Given the description of an element on the screen output the (x, y) to click on. 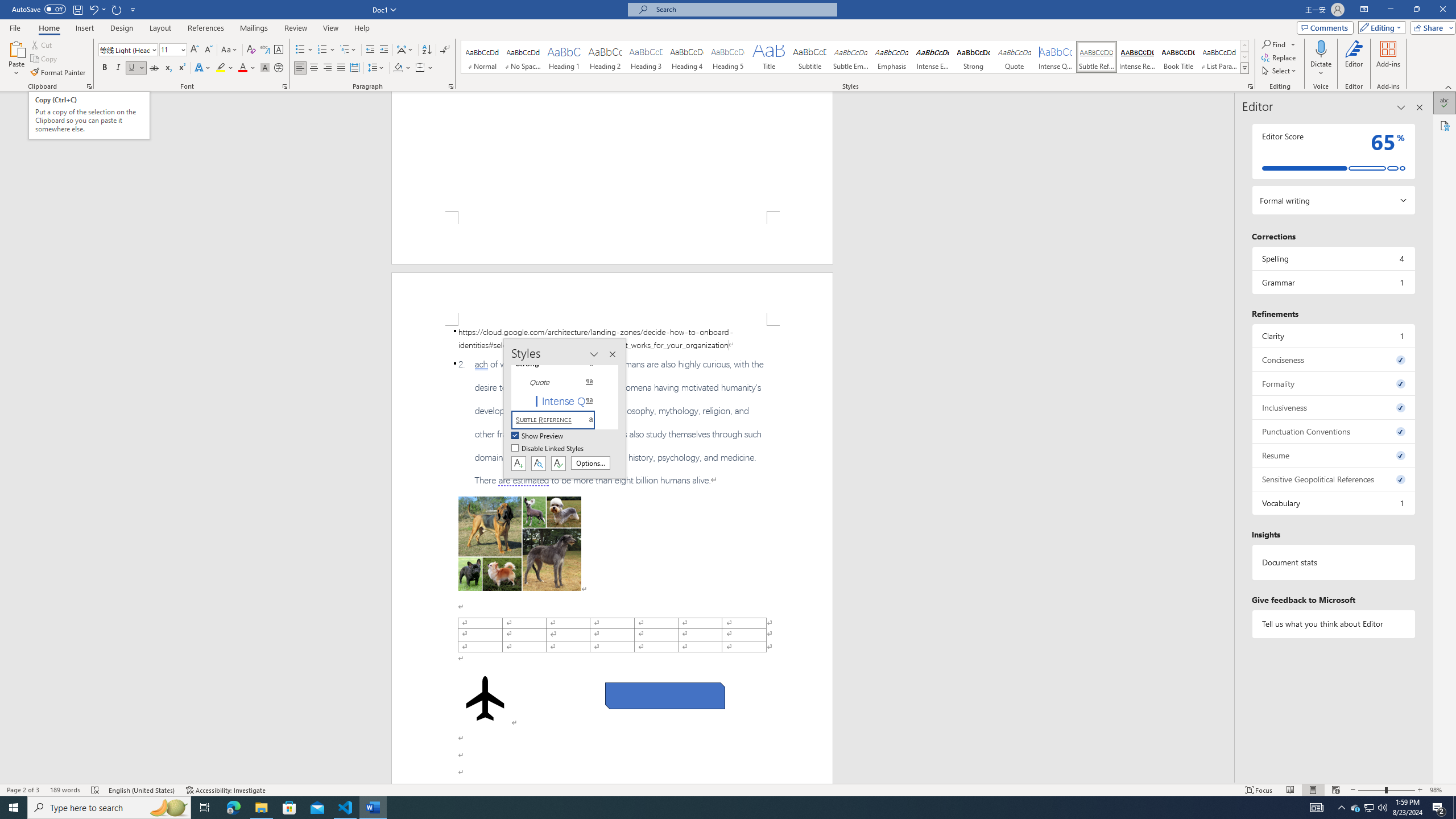
Formality, 0 issues. Press space or enter to review items. (1333, 383)
Emphasis (891, 56)
Grammar, 1 issue. Press space or enter to review items. (1333, 282)
